Given the description of an element on the screen output the (x, y) to click on. 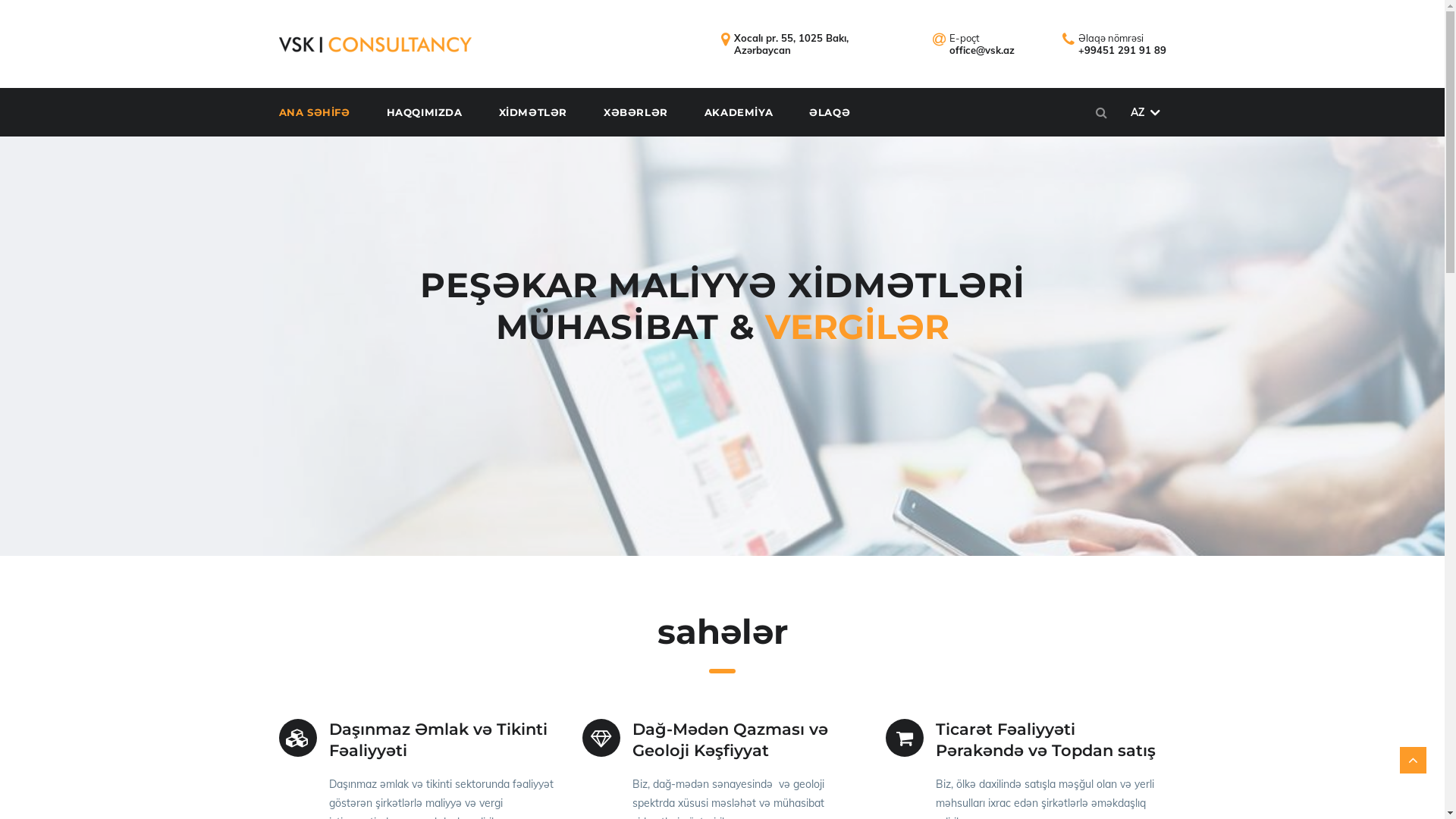
HAQQIMIZDA Element type: text (440, 111)
AZ Element type: text (1144, 111)
+99451 291 91 89 Element type: text (1122, 49)
office@vsk.az Element type: text (981, 49)
AKADEMIYA Element type: text (755, 111)
